Given the description of an element on the screen output the (x, y) to click on. 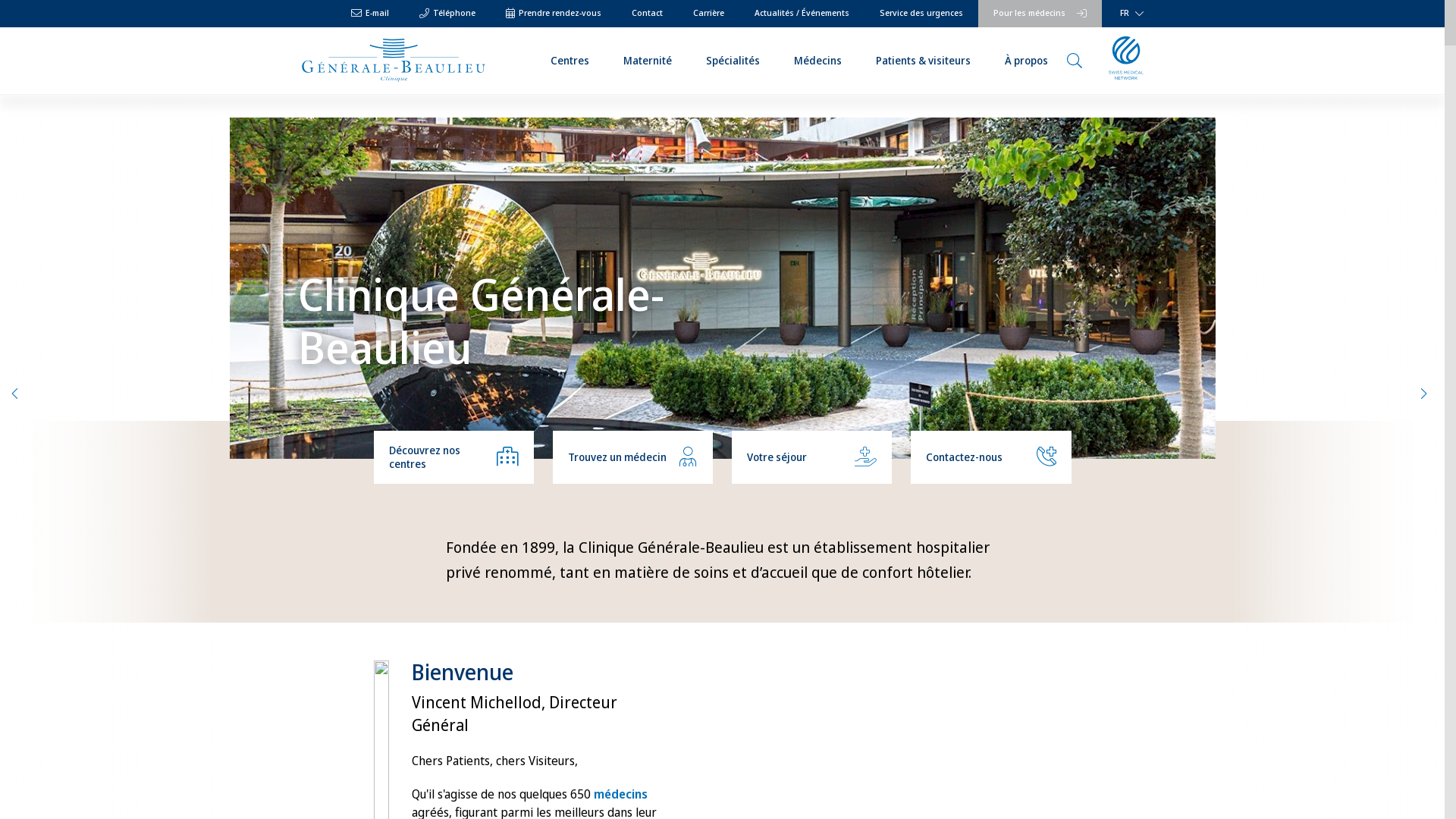
FR Element type: text (1128, 13)
